Given the description of an element on the screen output the (x, y) to click on. 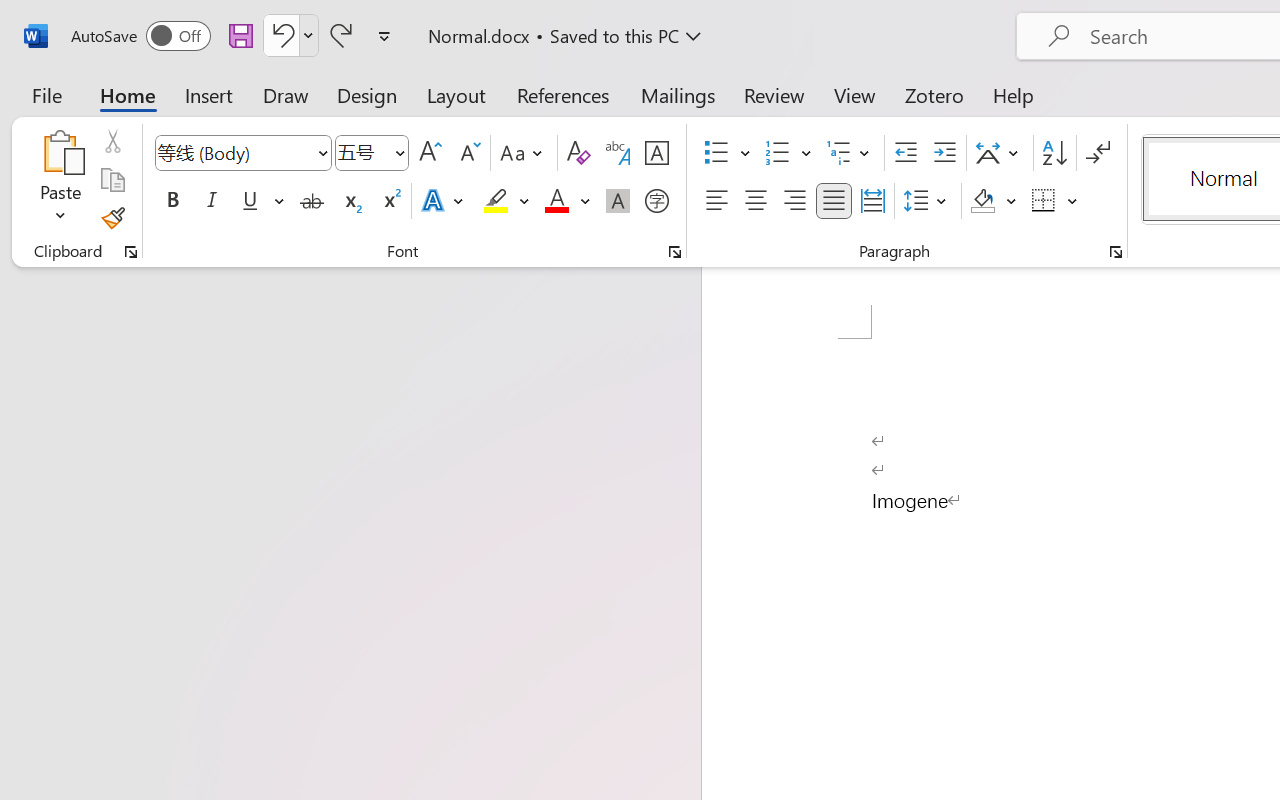
Line and Paragraph Spacing (927, 201)
Character Border (656, 153)
Text Effects and Typography (444, 201)
Sort... (1054, 153)
Italic (212, 201)
Open (399, 152)
Increase Indent (944, 153)
